Given the description of an element on the screen output the (x, y) to click on. 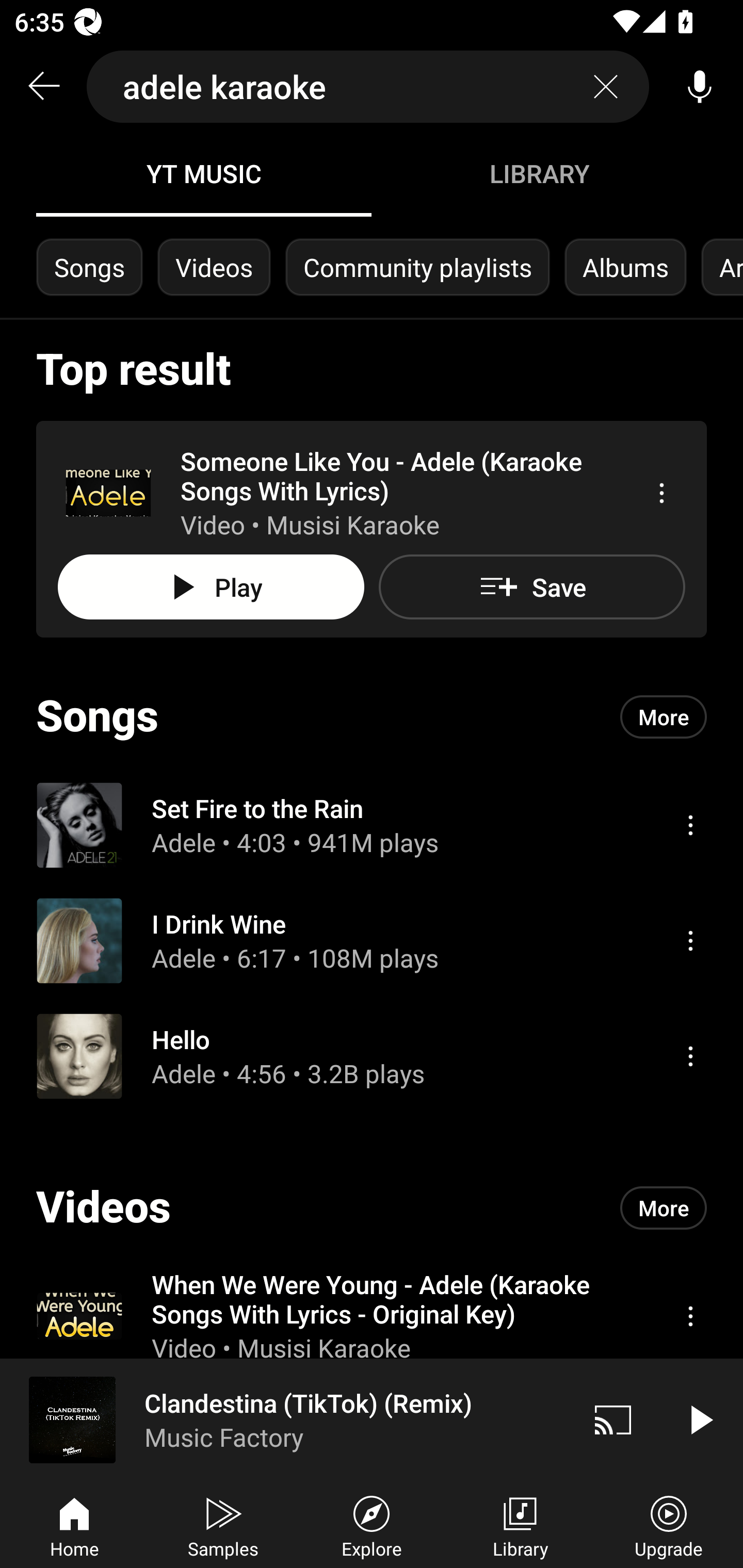
Search back (43, 86)
adele karaoke (367, 86)
Clear search (605, 86)
Voice search (699, 86)
Library LIBRARY (538, 173)
Videos (214, 267)
Albums (625, 267)
Menu (661, 492)
Play PLAY ALL (210, 587)
Save Save to playlist (531, 587)
Songs More More (371, 716)
More (663, 716)
Menu (690, 824)
Menu (690, 940)
Menu (690, 1056)
Videos More More (371, 1208)
More (663, 1207)
Menu (690, 1315)
Clandestina (TikTok) (Remix) Music Factory (284, 1419)
Cast. Disconnected (612, 1419)
Play video (699, 1419)
Home (74, 1524)
Samples (222, 1524)
Explore (371, 1524)
Library (519, 1524)
Upgrade (668, 1524)
